Given the description of an element on the screen output the (x, y) to click on. 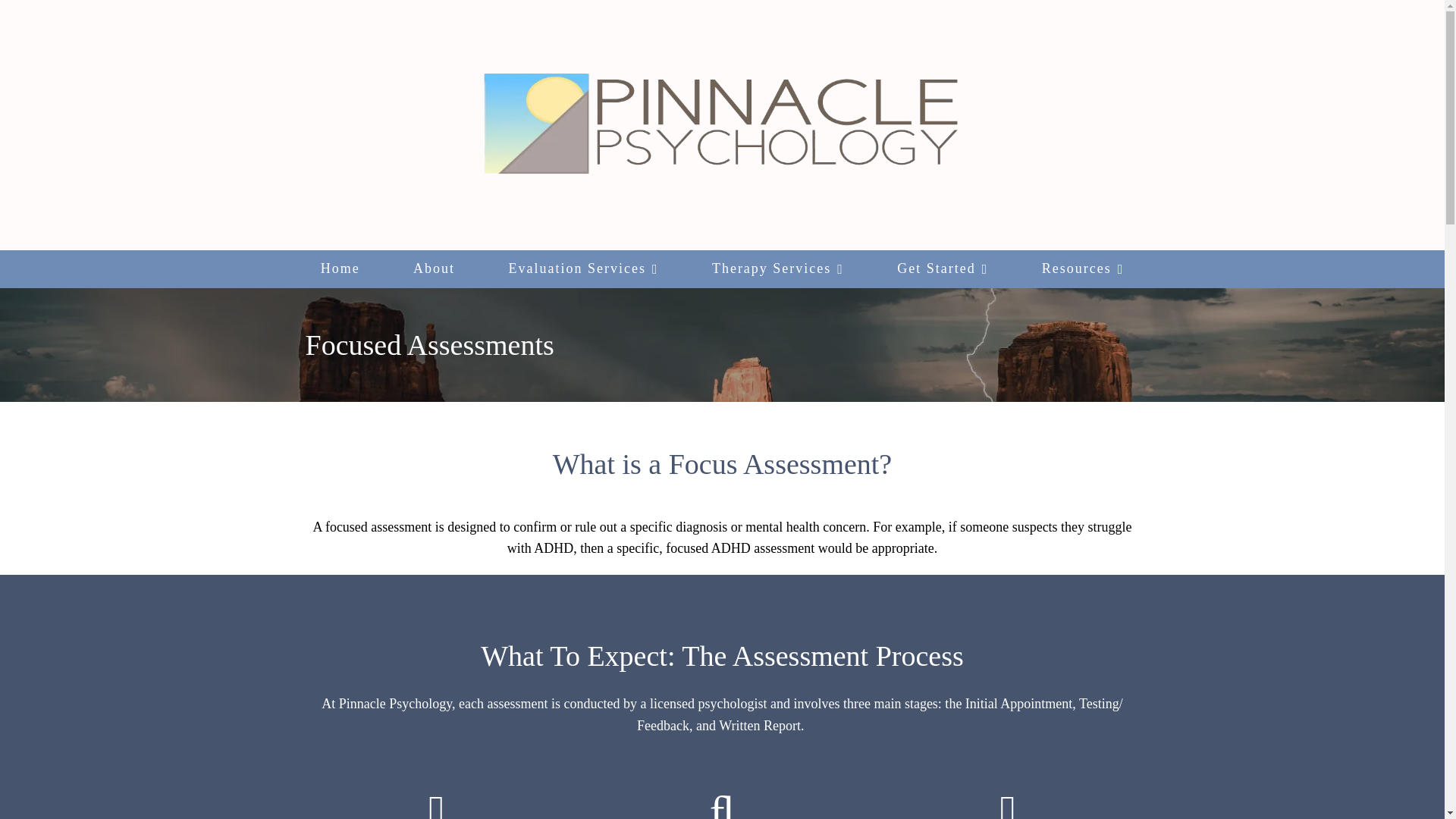
Get Started (942, 269)
Evaluation Services (582, 269)
Therapy Services (777, 269)
Resources (1082, 269)
Home (339, 269)
About (434, 269)
